Given the description of an element on the screen output the (x, y) to click on. 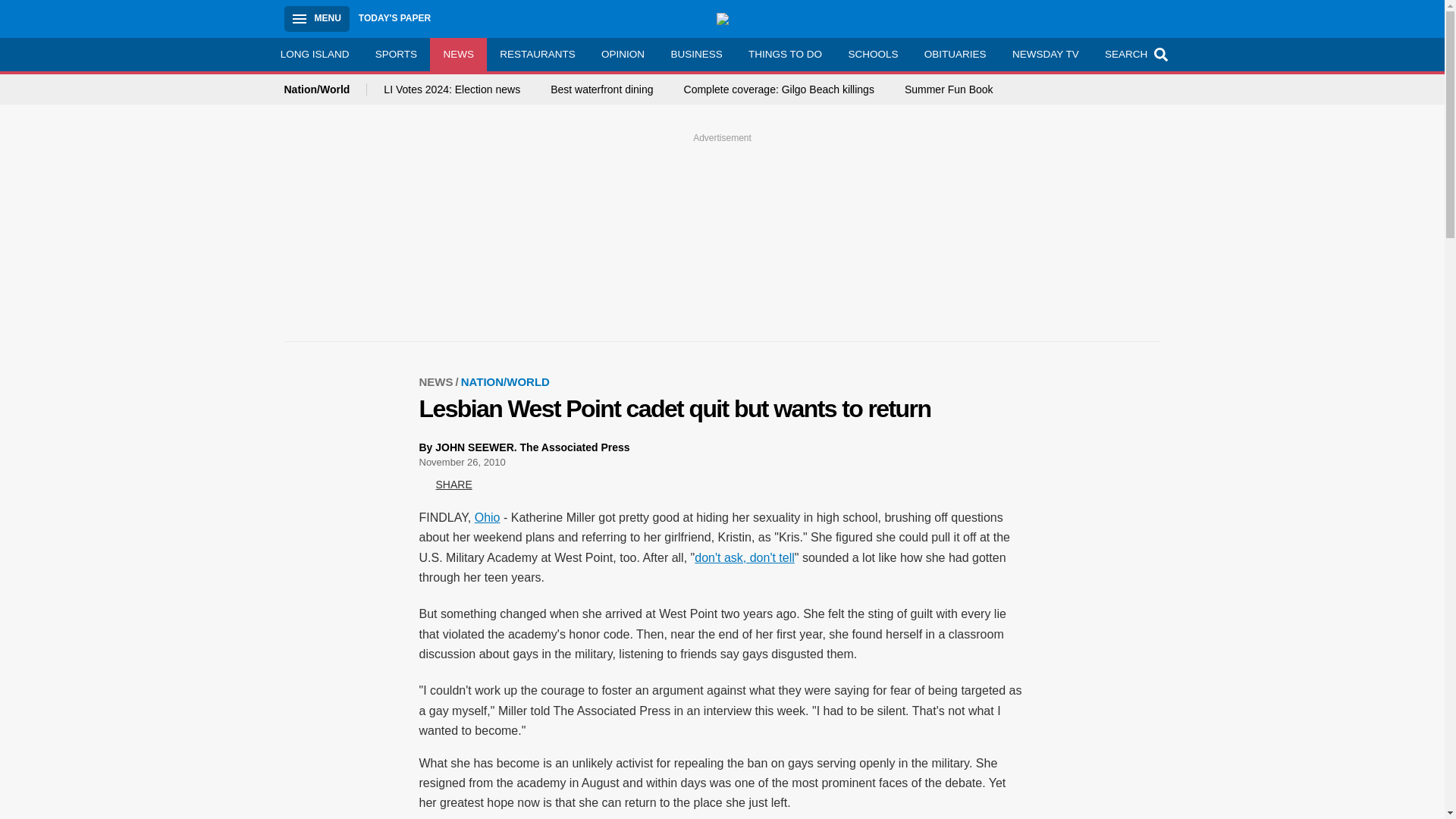
SPORTS (396, 54)
SCHOOLS (872, 54)
SHARE (445, 485)
NEWS (457, 54)
NEWSDAY TV (1045, 54)
Complete coverage: Gilgo Beach killings (779, 89)
LONG ISLAND (313, 54)
TODAY'S PAPER (394, 18)
Best waterfront dining (601, 89)
BUSINESS (696, 54)
Ohio (487, 517)
OBITUARIES (954, 54)
LI Votes 2024: Election news (451, 89)
THINGS TO DO (784, 54)
don't ask, don't tell (744, 556)
